Given the description of an element on the screen output the (x, y) to click on. 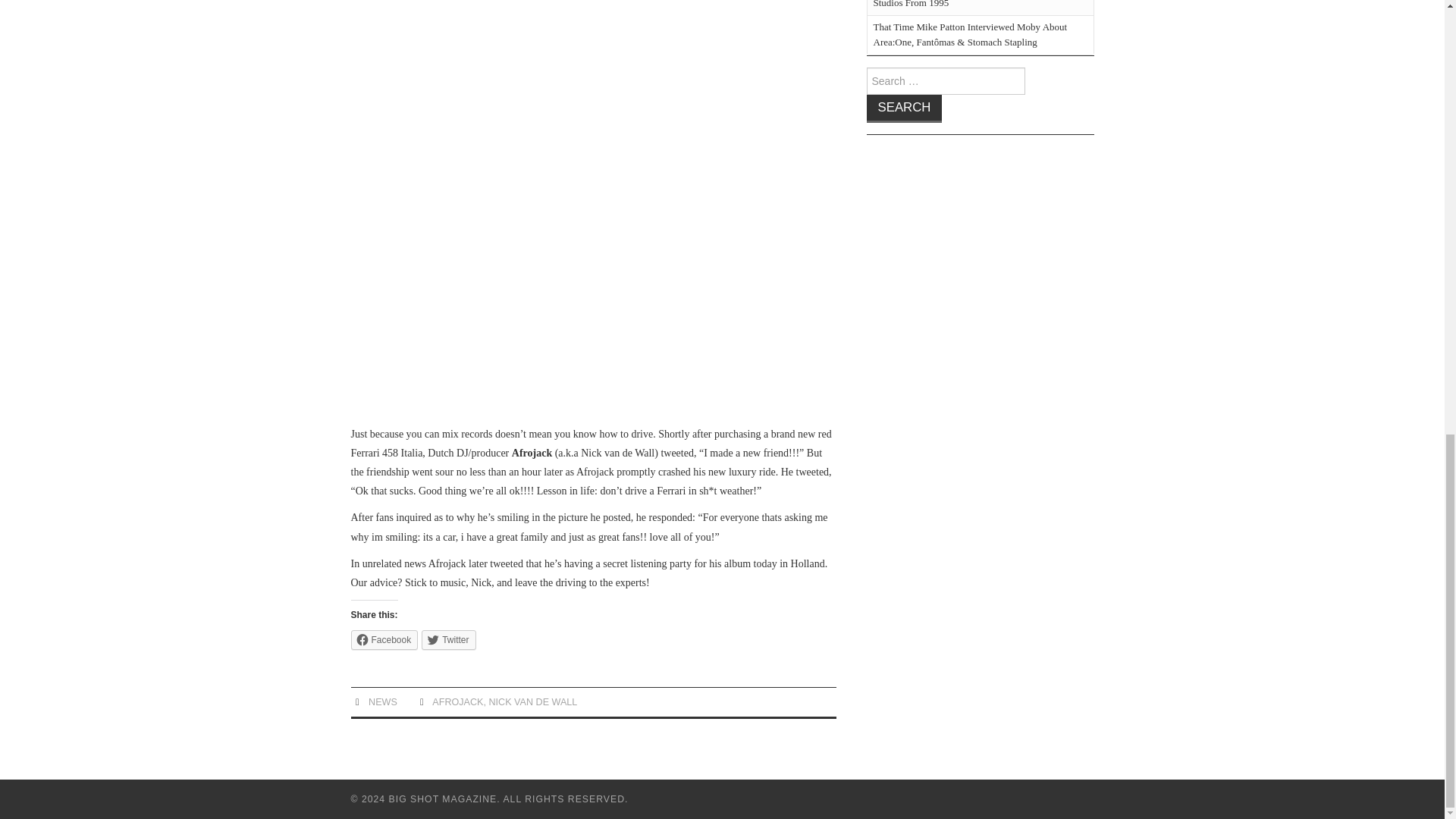
Facebook (383, 639)
Search (904, 108)
Twitter (449, 639)
Click to share on Twitter (449, 639)
Search (904, 108)
Click to share on Facebook (383, 639)
